Given the description of an element on the screen output the (x, y) to click on. 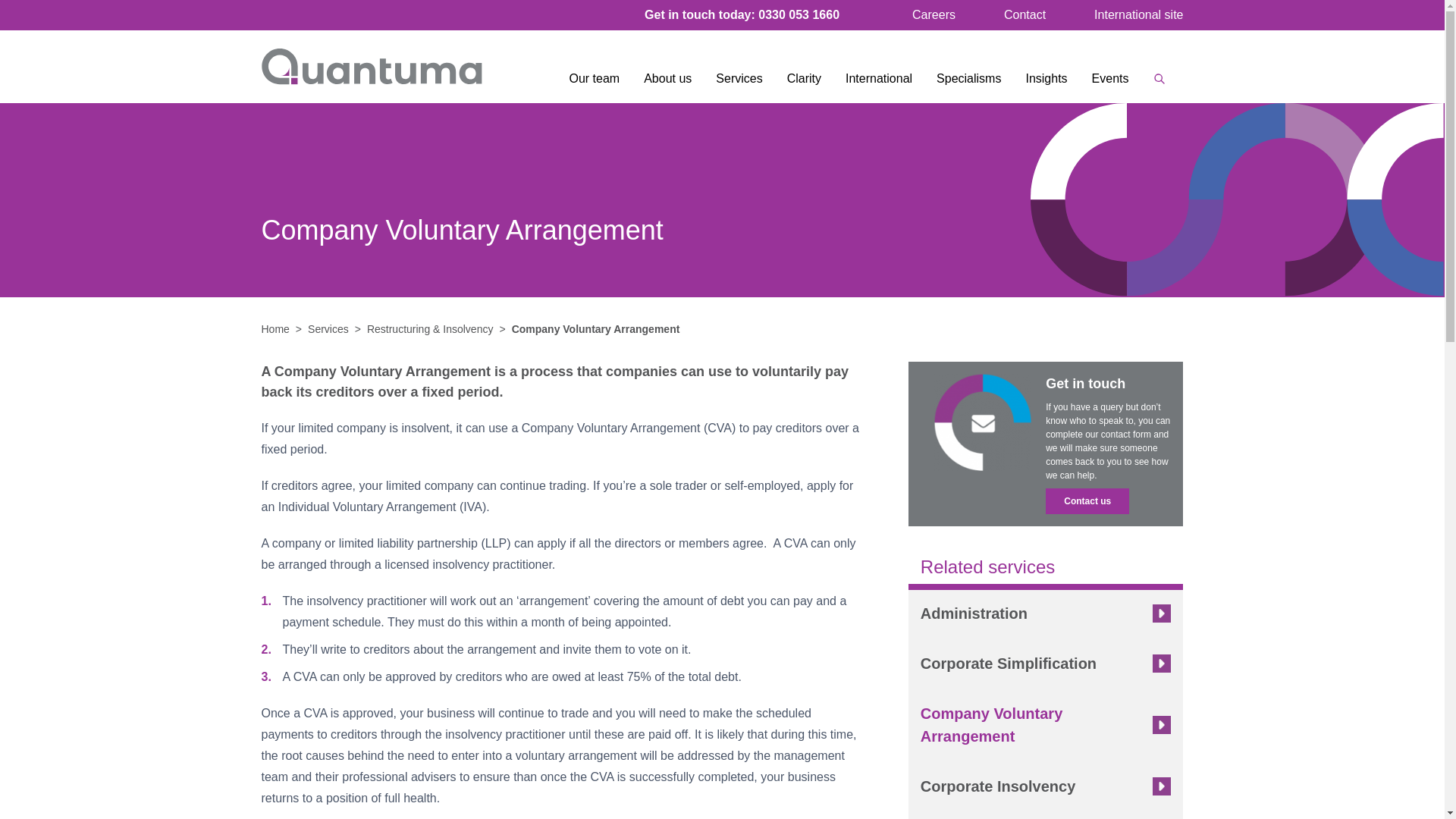
Clarity (803, 84)
Get in touch today: 0330 053 1660 (742, 14)
Our team (593, 84)
International site (1138, 14)
Events (1110, 84)
Specialisms (968, 84)
International (878, 84)
Services (738, 84)
Insights (1045, 84)
Careers (933, 14)
About us (667, 84)
Contact (1024, 14)
